Given the description of an element on the screen output the (x, y) to click on. 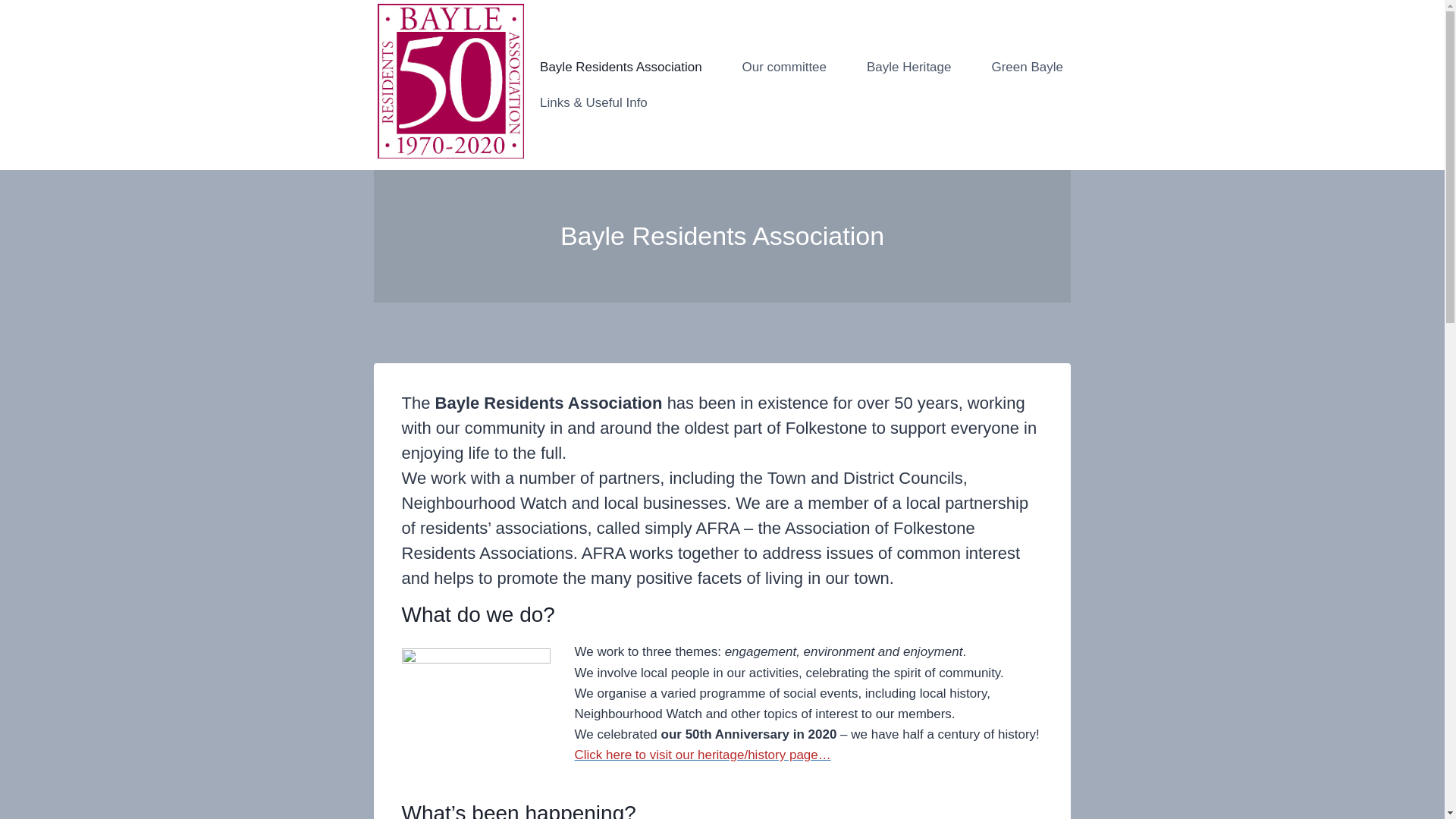
Green Bayle (1027, 66)
Bayle Heritage (909, 66)
Our committee (783, 66)
Bayle Residents Association (621, 66)
